Given the description of an element on the screen output the (x, y) to click on. 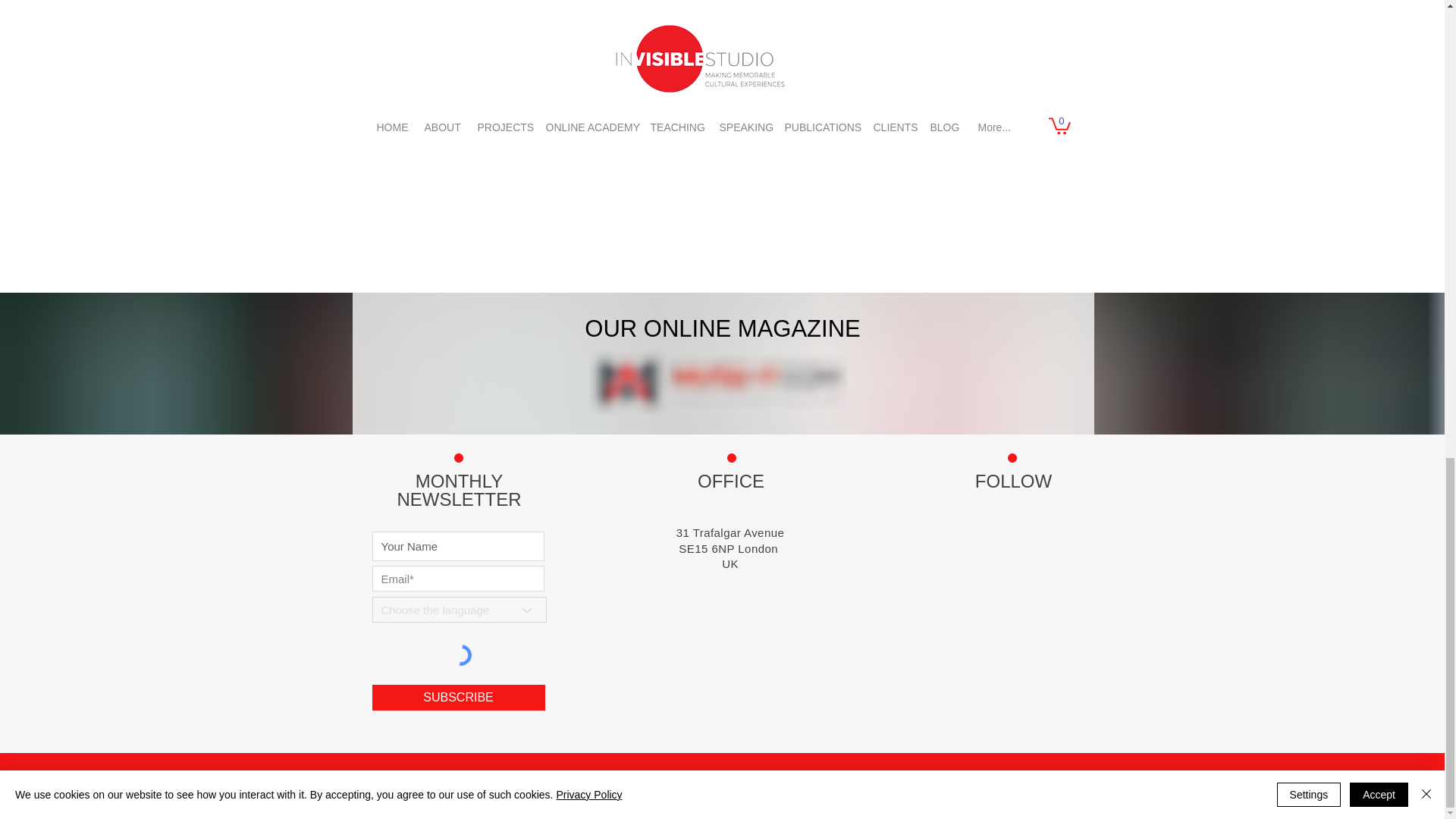
SUBSCRIBE (457, 697)
Privacy Policy (993, 782)
